Given the description of an element on the screen output the (x, y) to click on. 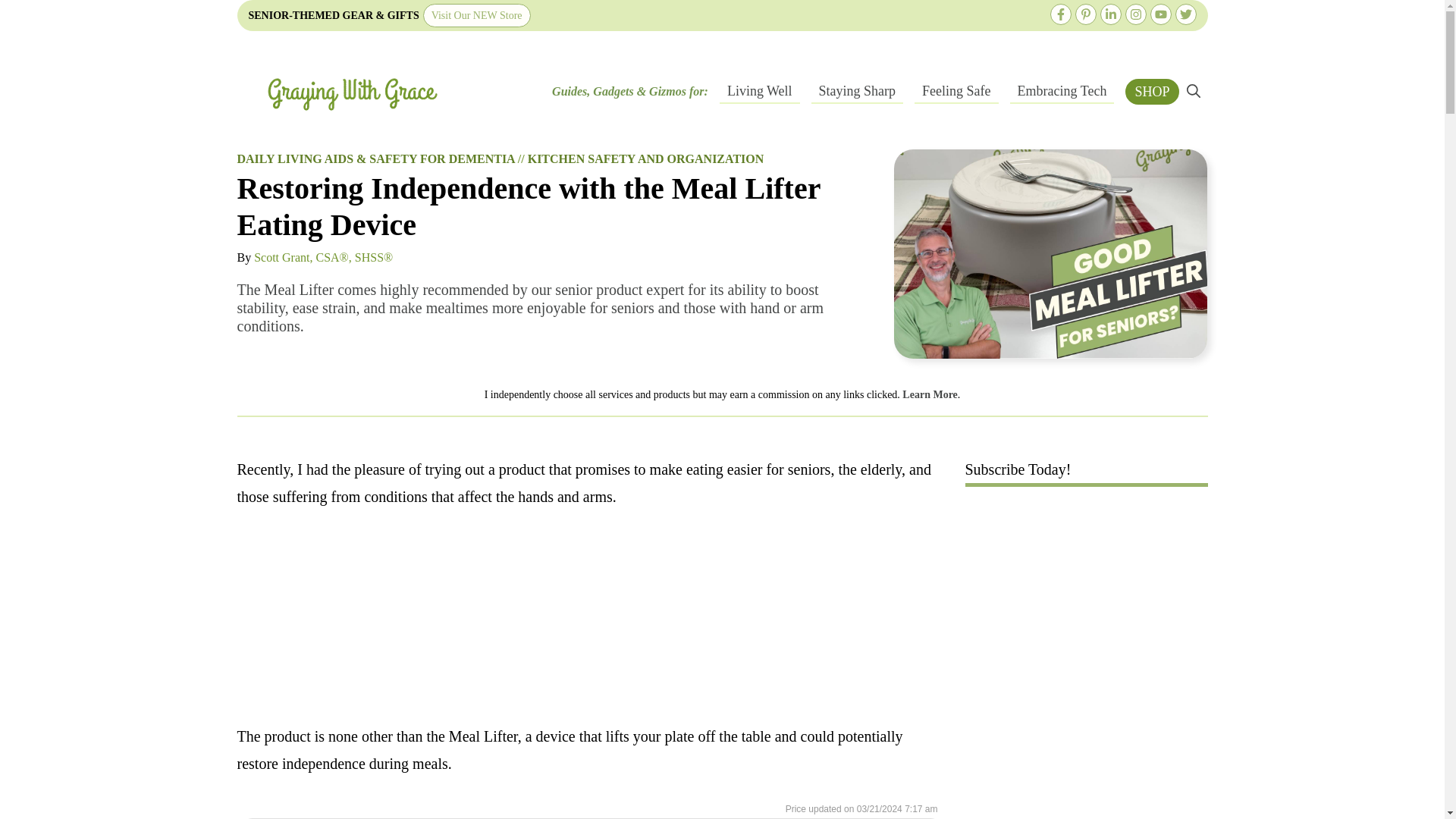
Learn More (929, 394)
Feeling Safe (955, 91)
Embracing Tech (1062, 91)
Visit Our NEW Store (477, 15)
KITCHEN SAFETY AND ORGANIZATION (645, 158)
Living Well (759, 91)
Staying Sharp (857, 91)
SHOP (1151, 91)
